Given the description of an element on the screen output the (x, y) to click on. 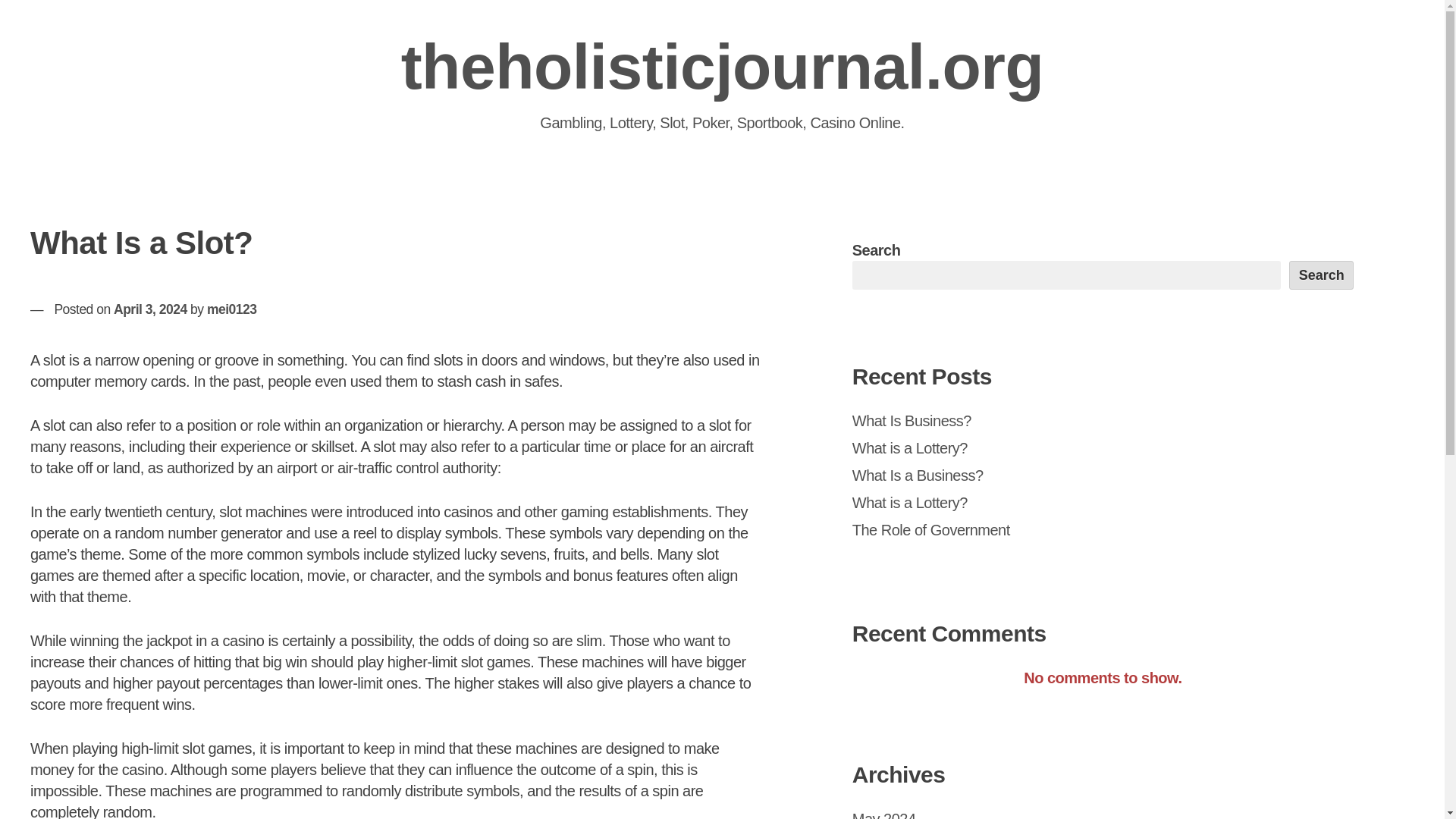
Search (1321, 275)
May 2024 (883, 814)
April 3, 2024 (150, 309)
mei0123 (231, 309)
What Is a Business? (917, 475)
What is a Lottery? (909, 502)
theholisticjournal.org (722, 66)
The Role of Government (930, 529)
What is a Lottery? (909, 447)
What Is Business? (911, 420)
